Given the description of an element on the screen output the (x, y) to click on. 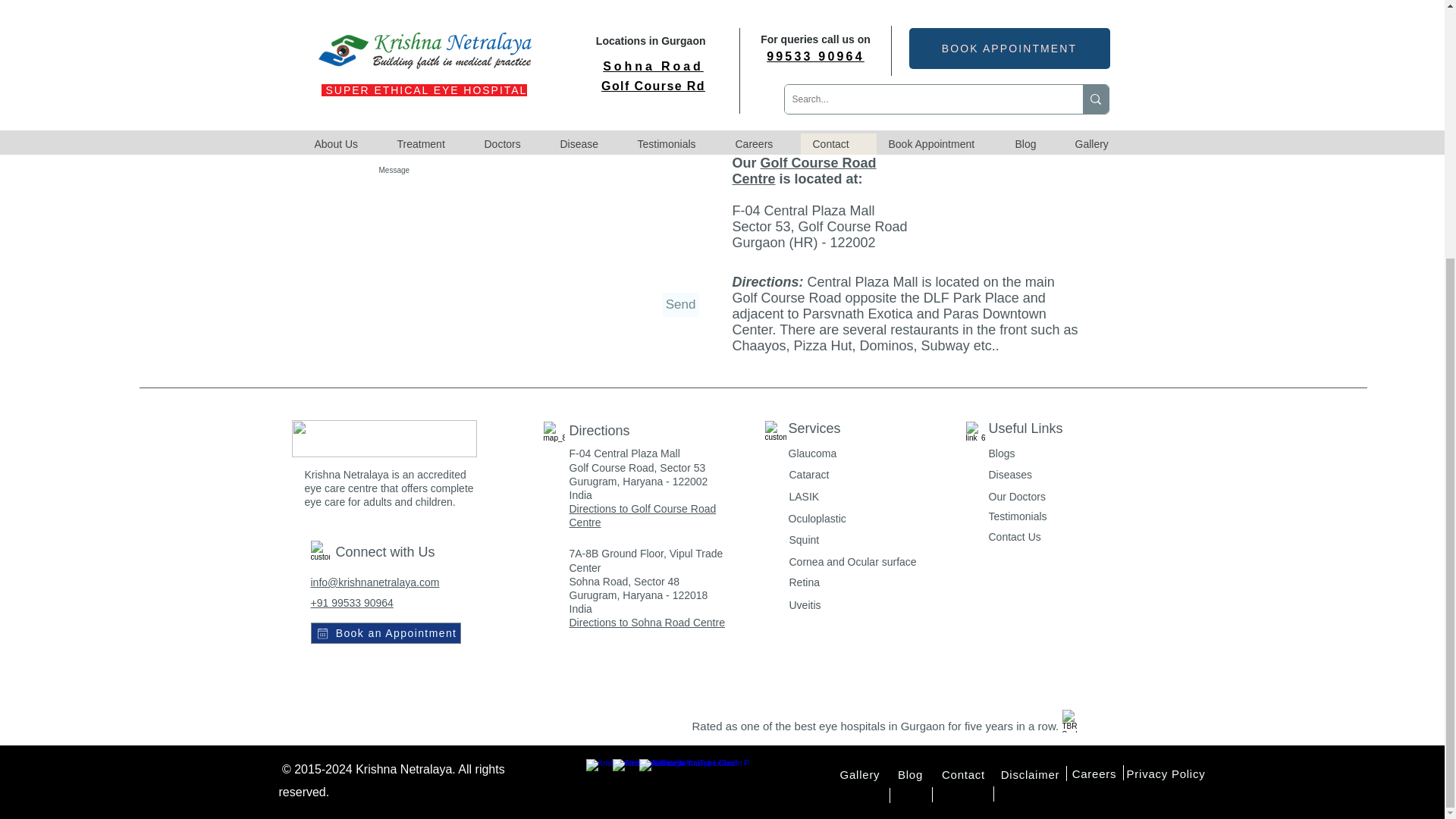
Glaucoma (813, 453)
Directions to Golf Course Road (642, 508)
Send (680, 304)
Cataract (808, 474)
Diseases (1010, 474)
LASIK (803, 496)
Blogs (1001, 453)
